Given the description of an element on the screen output the (x, y) to click on. 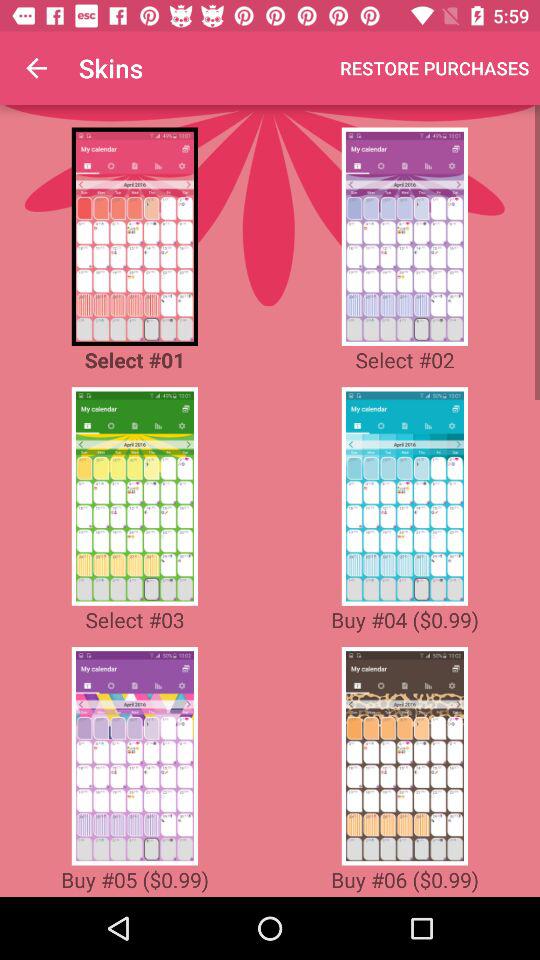
select skin 2 (404, 236)
